Given the description of an element on the screen output the (x, y) to click on. 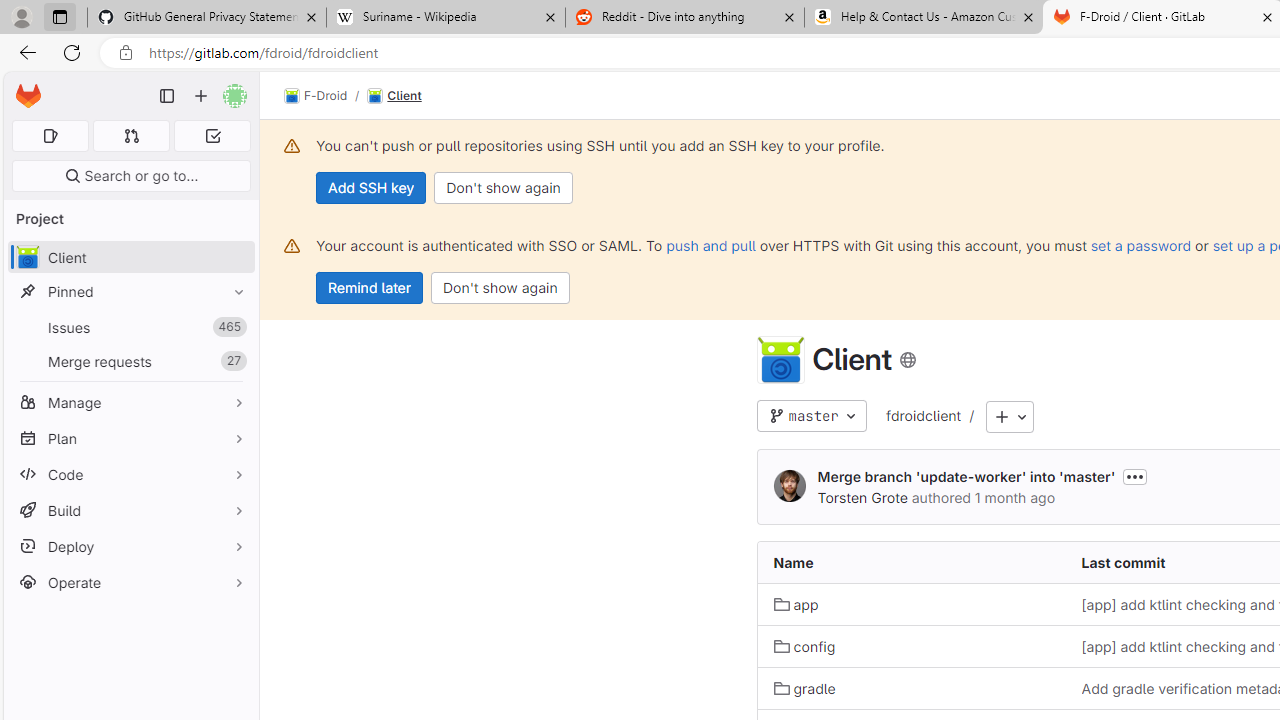
master (811, 416)
Assigned issues 0 (50, 136)
Pinned (130, 291)
Plan (130, 438)
fdroidclient (923, 415)
